Given the description of an element on the screen output the (x, y) to click on. 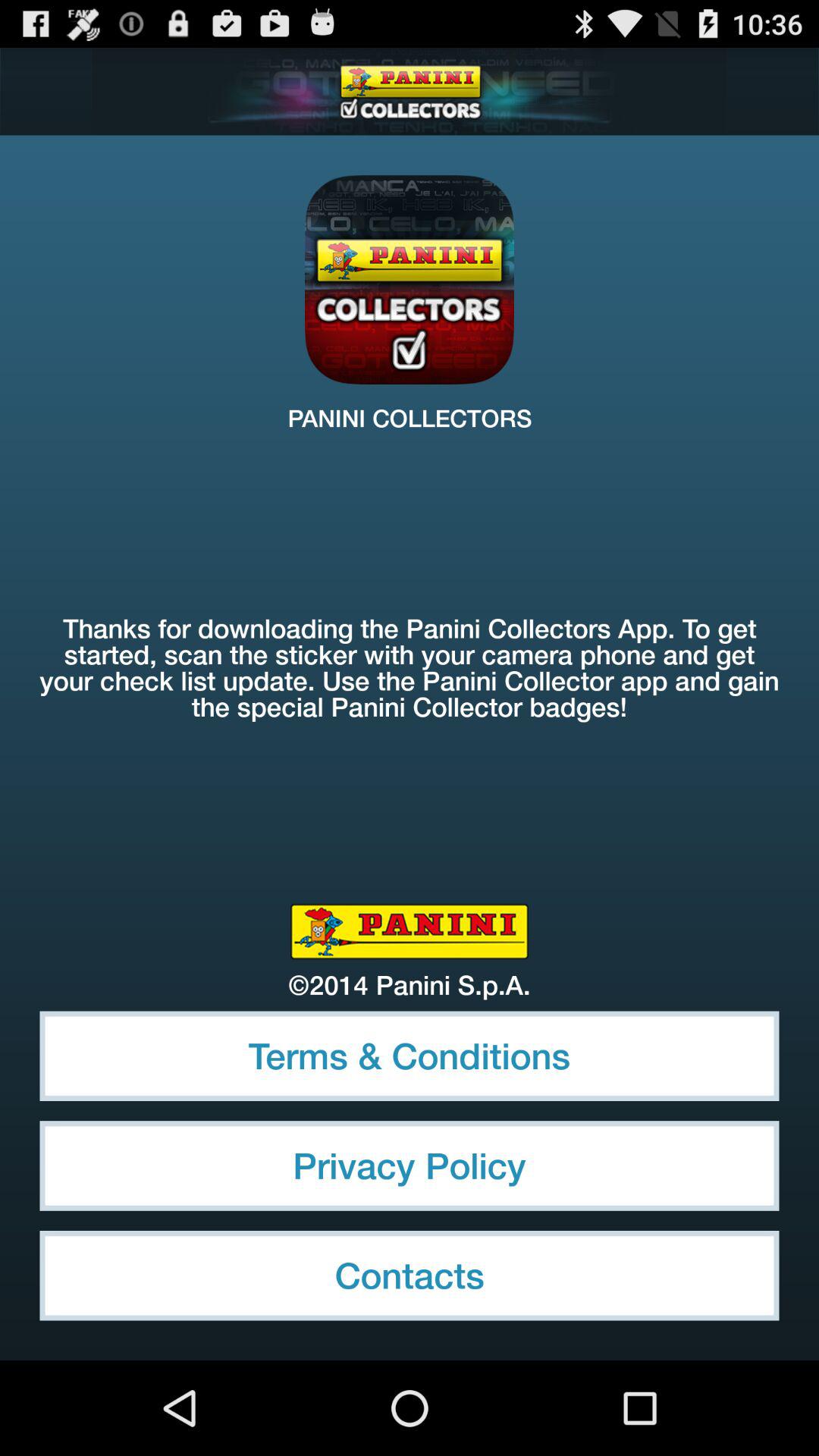
turn on the item below the terms & conditions icon (409, 1165)
